Given the description of an element on the screen output the (x, y) to click on. 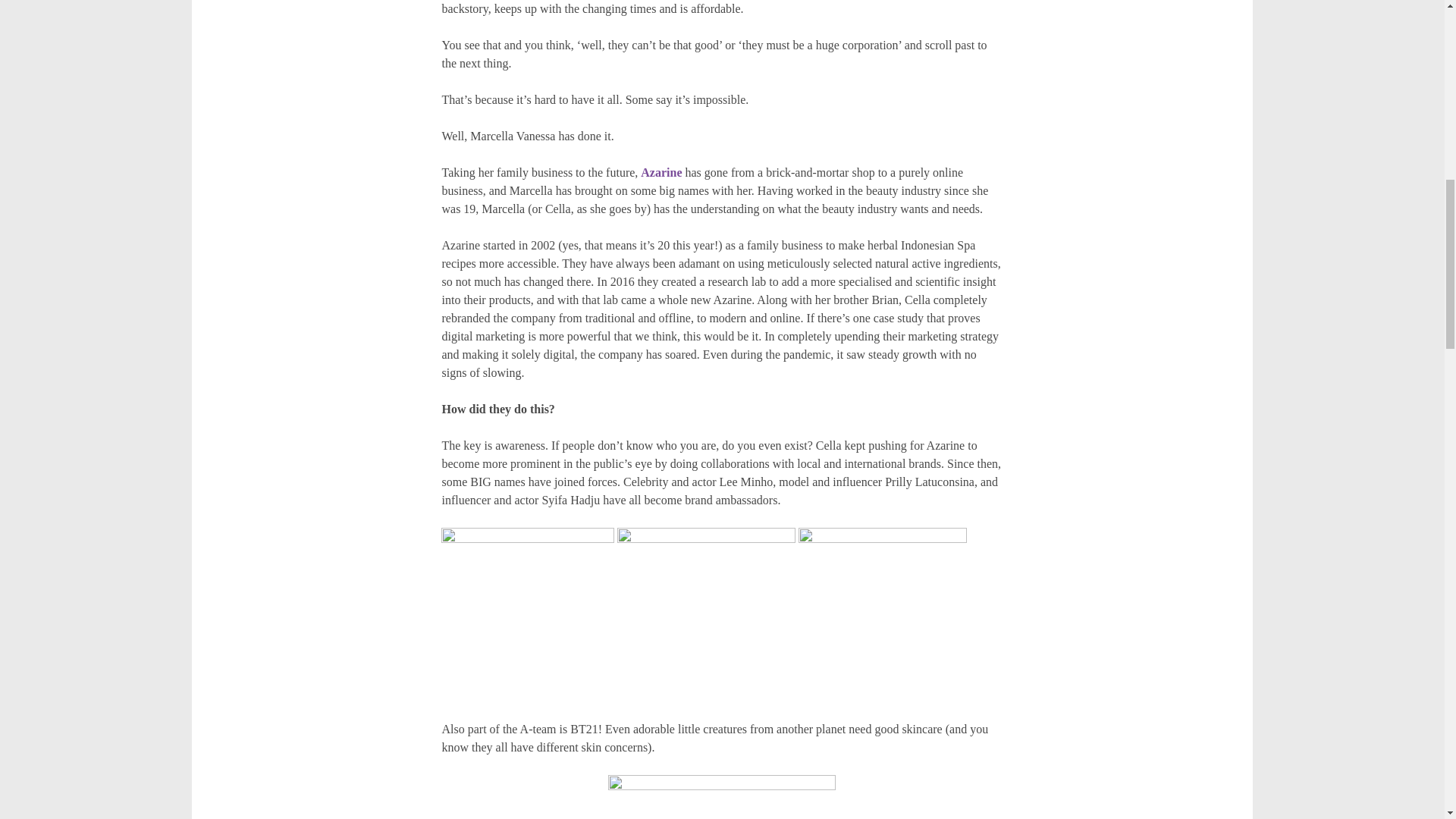
Azarine (660, 172)
